Given the description of an element on the screen output the (x, y) to click on. 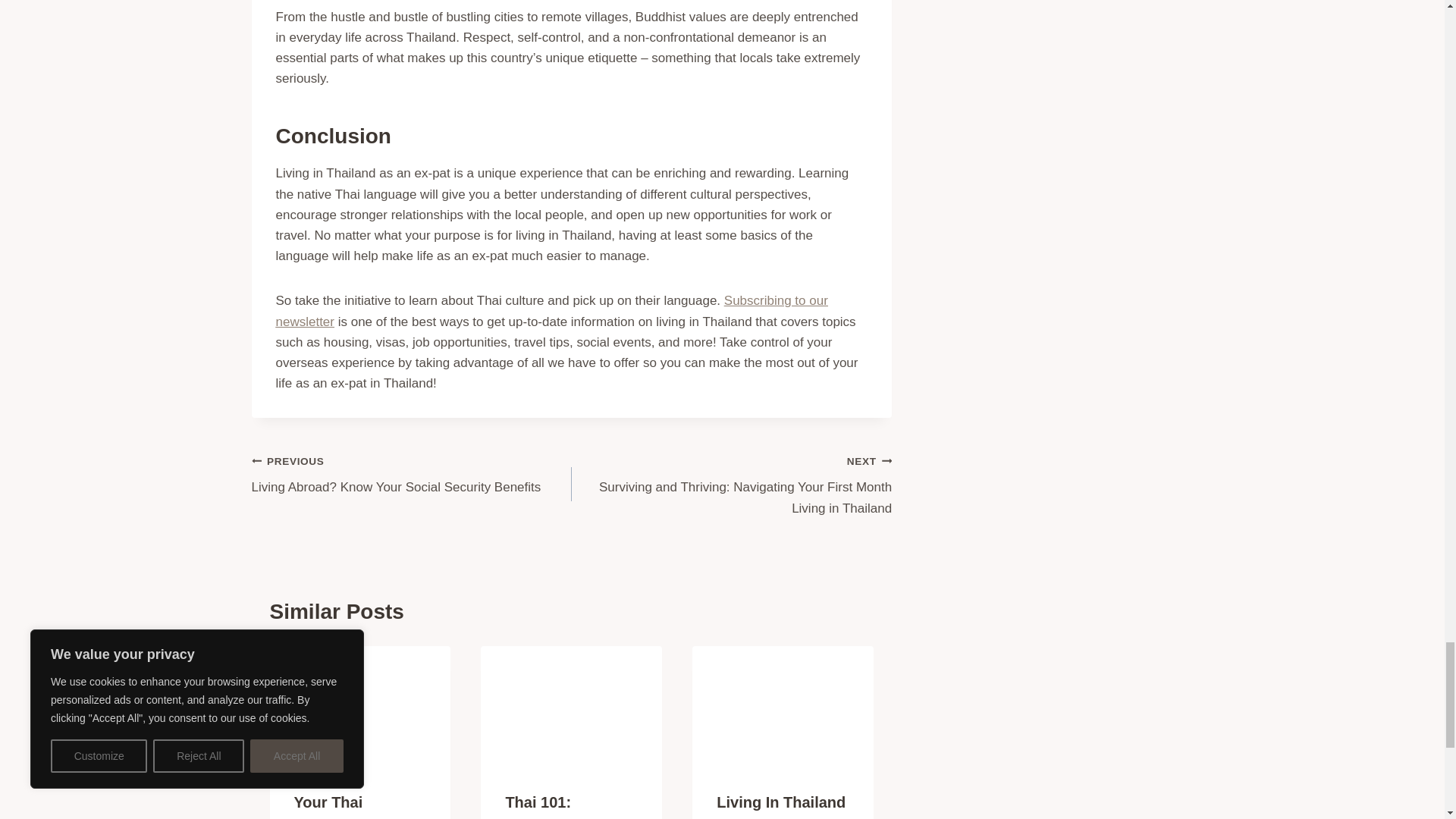
Subscribing to our newsletter (552, 310)
Thai 101: Essential Resources for Thai Language Novices (411, 473)
